Given the description of an element on the screen output the (x, y) to click on. 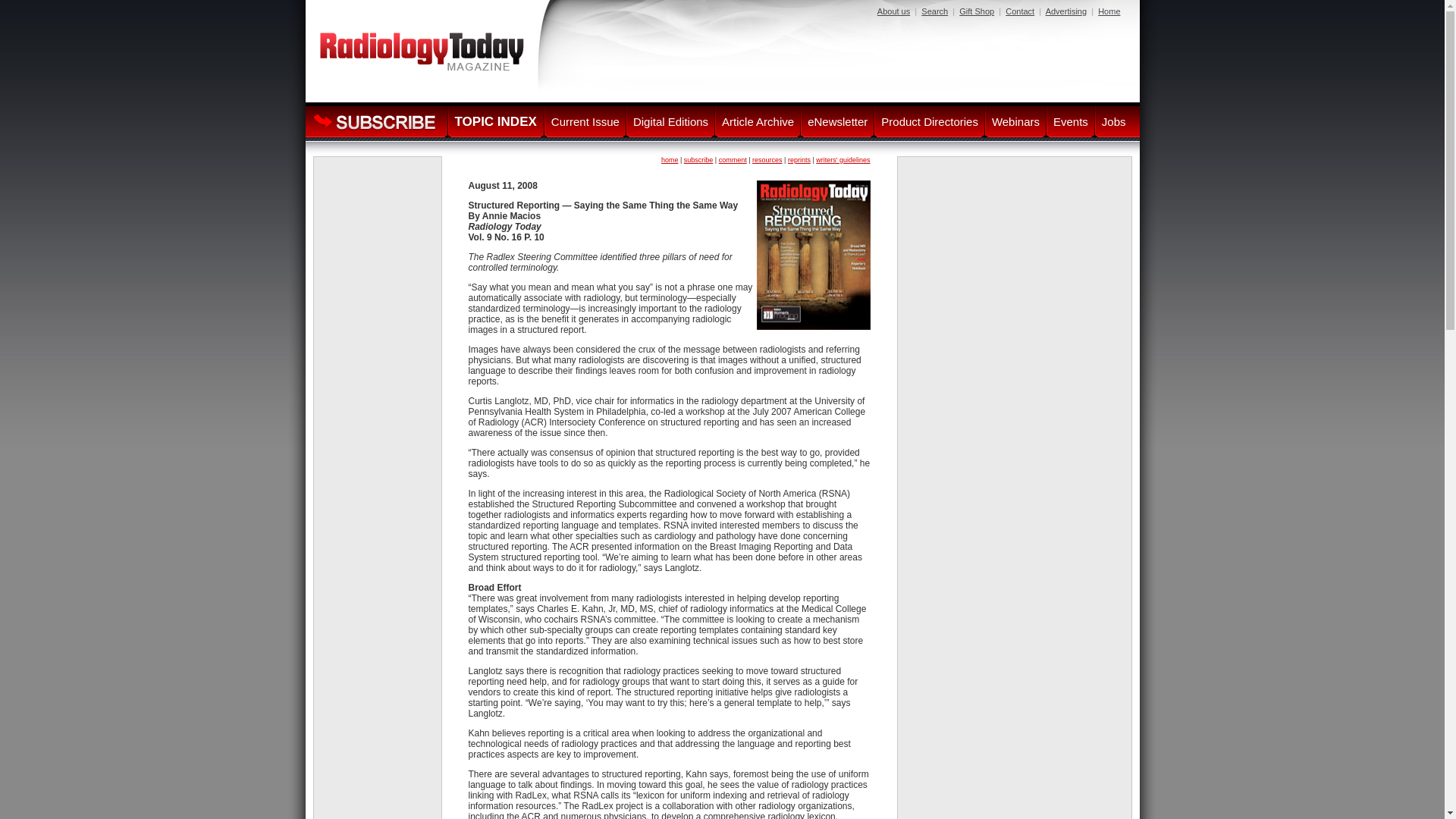
3rd party ad content (1014, 460)
Search (934, 10)
3rd party ad content (845, 56)
Contact (1019, 10)
Article Archive (757, 121)
Jobs (1113, 121)
Current Issue (585, 121)
Events (1070, 121)
TOPIC INDEX (494, 121)
comment (732, 159)
Digital Editions (670, 121)
home (669, 159)
Gift Shop (976, 10)
reprints (798, 159)
3rd party ad content (377, 206)
